Given the description of an element on the screen output the (x, y) to click on. 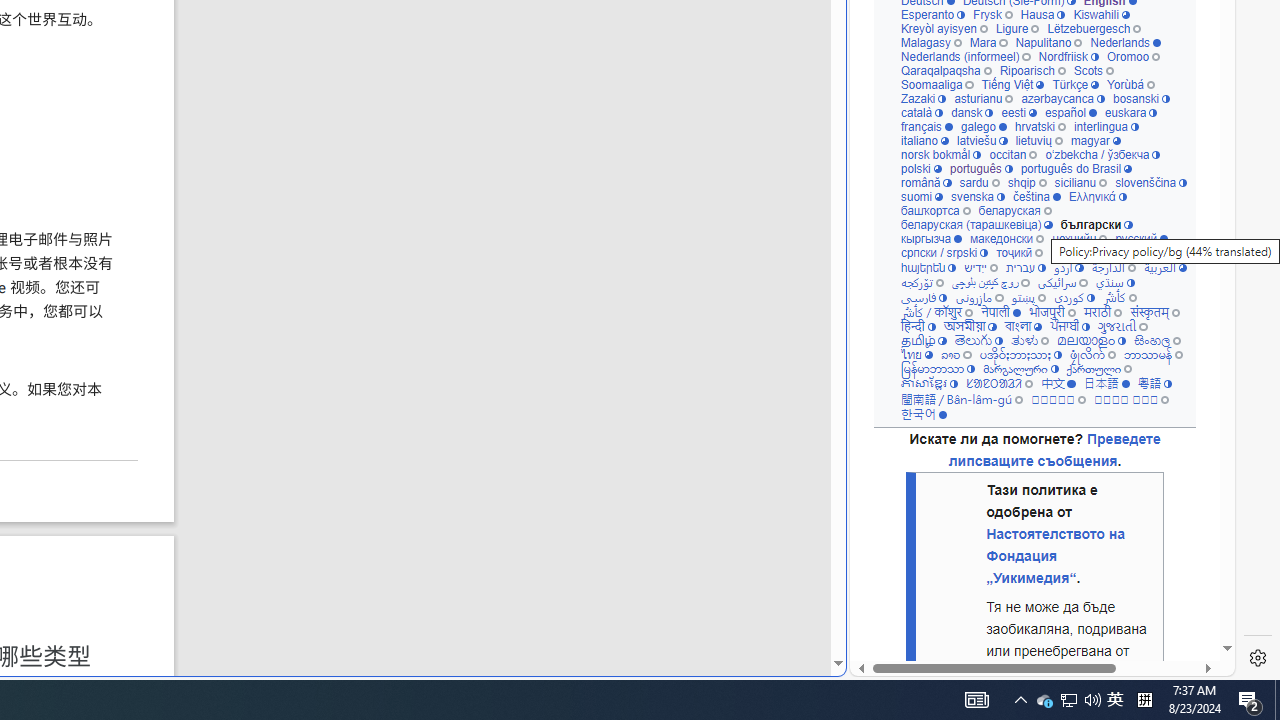
interlingua (1106, 125)
galego (983, 125)
Zazaki (923, 97)
